Given the description of an element on the screen output the (x, y) to click on. 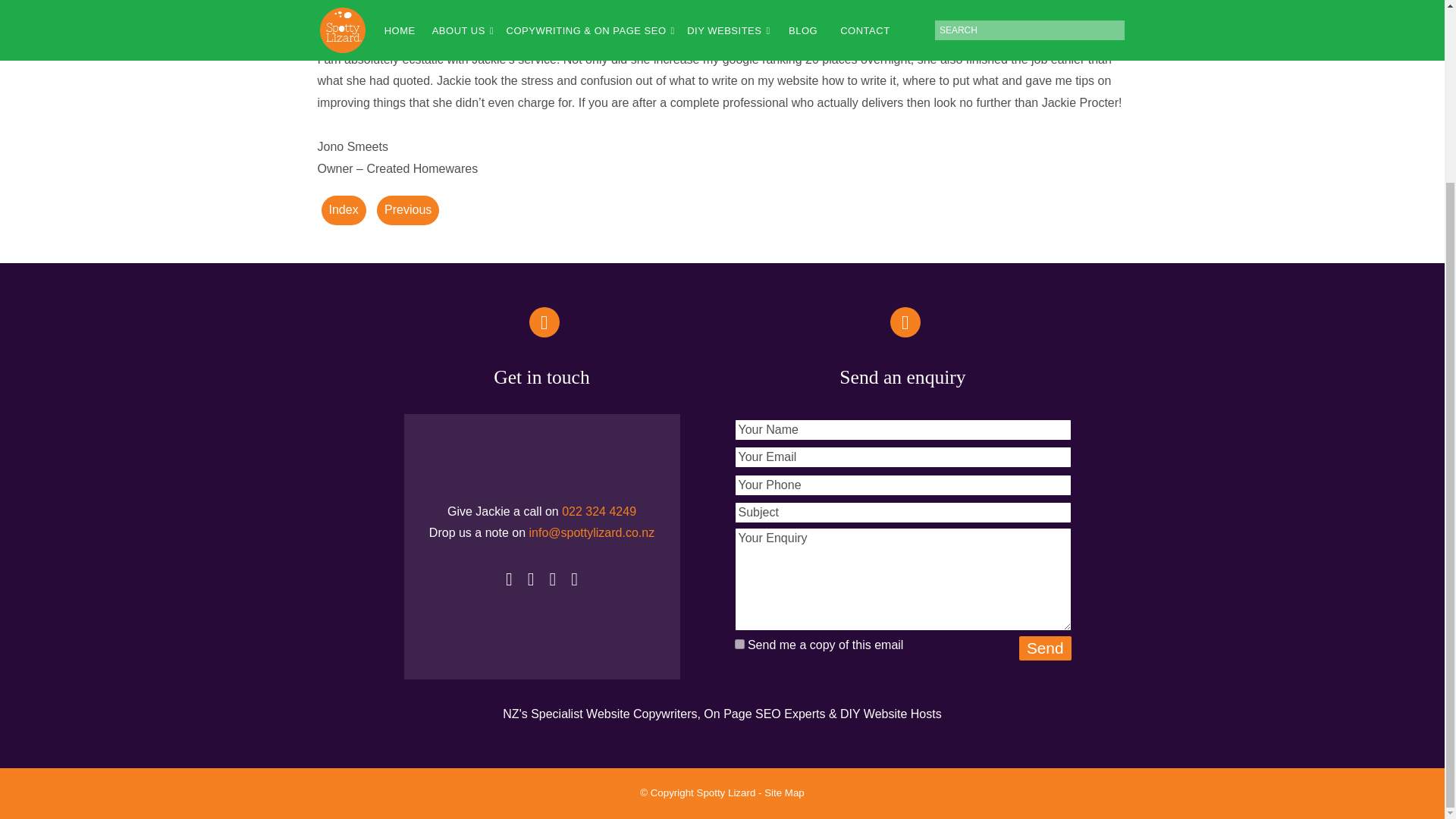
Send (1045, 648)
Index (343, 210)
1 (738, 644)
Previous (408, 210)
View Shopping Cart (1112, 5)
Phone Numbers and Contact Details (1083, 5)
022 324 4249 (599, 511)
